Given the description of an element on the screen output the (x, y) to click on. 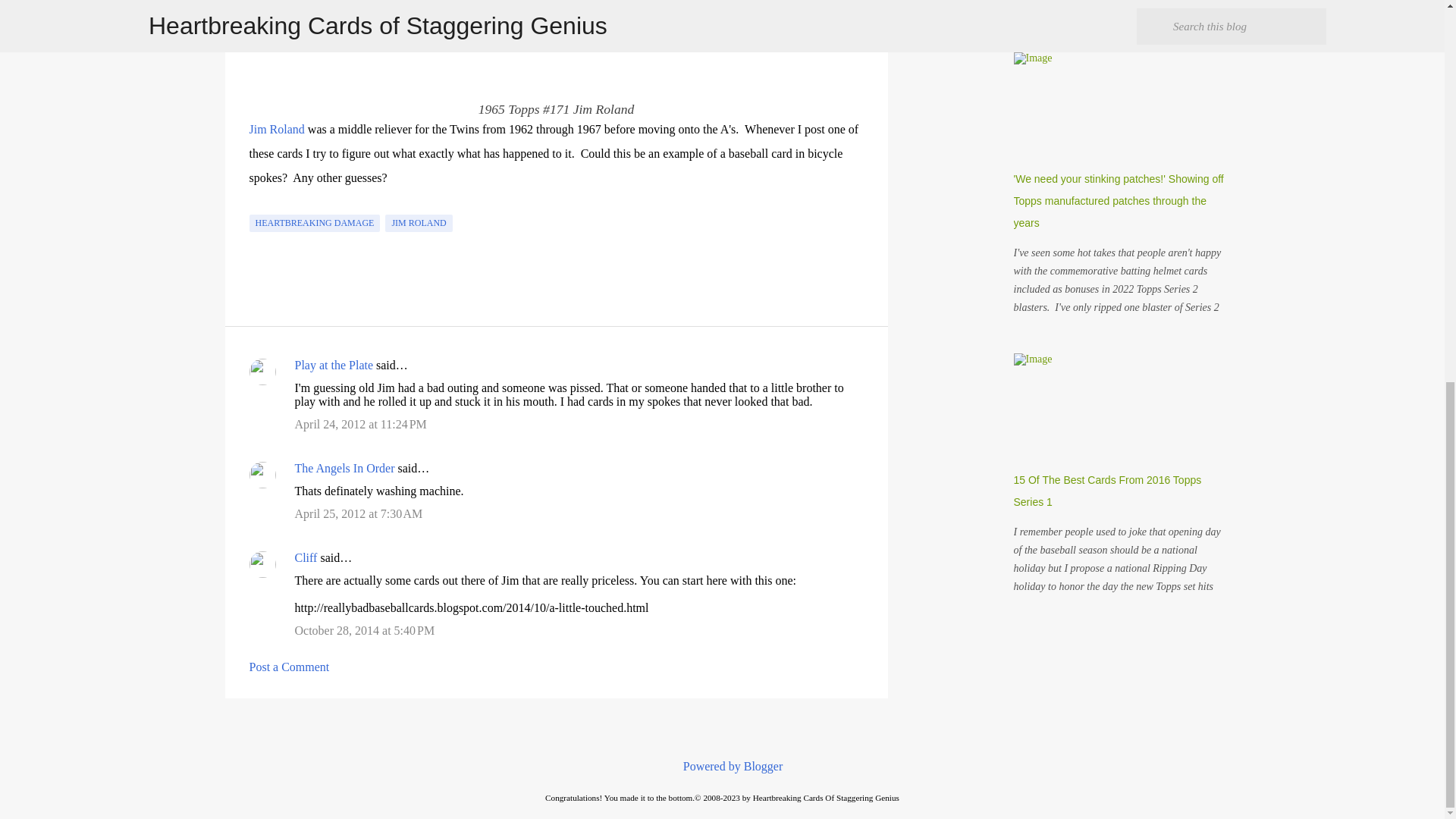
Cliff (305, 557)
HEARTBREAKING DAMAGE (314, 222)
Jim Roland (276, 128)
Post a Comment (288, 666)
Powered by Blogger (722, 766)
The Angels In Order (344, 468)
Play at the Plate (333, 364)
Email Post (257, 204)
comment permalink (360, 423)
JIM ROLAND (418, 222)
15 Of The Best Cards From 2016 Topps Series 1 (1107, 490)
